Given the description of an element on the screen output the (x, y) to click on. 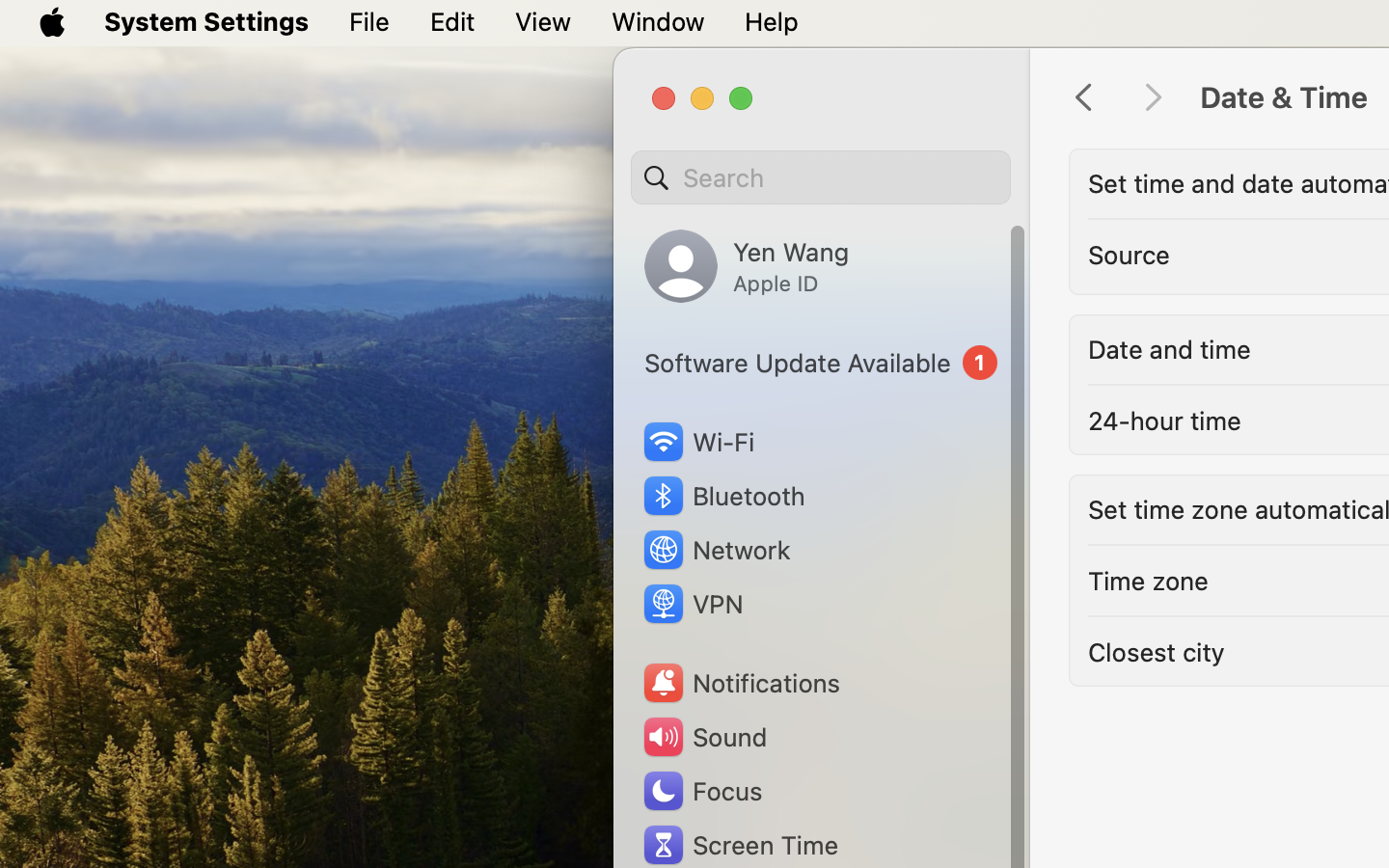
Focus Element type: AXStaticText (701, 790)
Network Element type: AXStaticText (715, 549)
Yen Wang, Apple ID Element type: AXStaticText (746, 265)
Time zone Element type: AXStaticText (1148, 580)
VPN Element type: AXStaticText (691, 603)
